Given the description of an element on the screen output the (x, y) to click on. 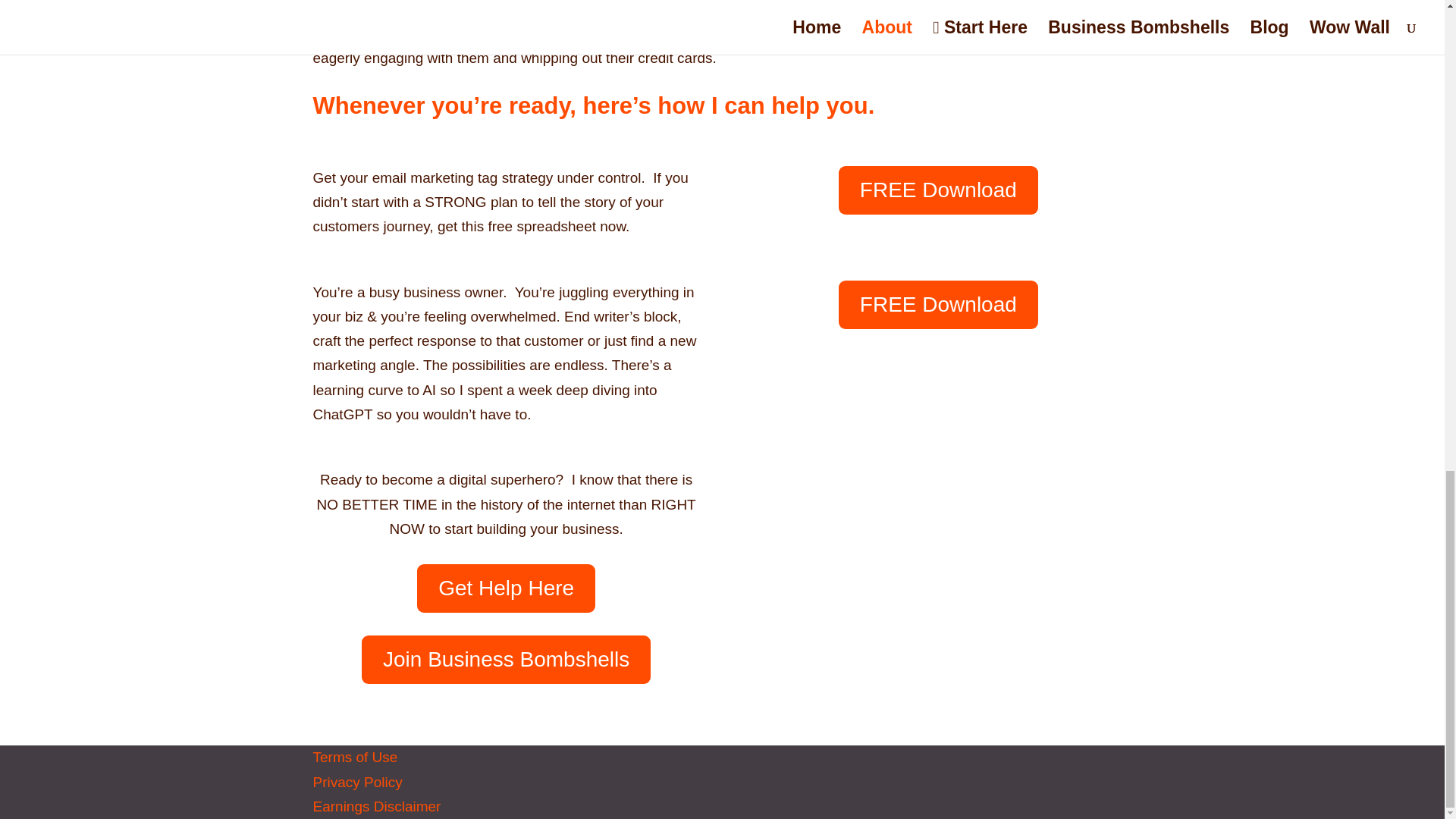
Privacy Policy (357, 781)
Terms of Use (355, 756)
Earnings Disclaimer (377, 806)
Join Business Bombshells (505, 659)
pinky and the brain (877, 567)
FREE Download (938, 304)
Get Help Here (505, 588)
FREE Download (938, 190)
